Given the description of an element on the screen output the (x, y) to click on. 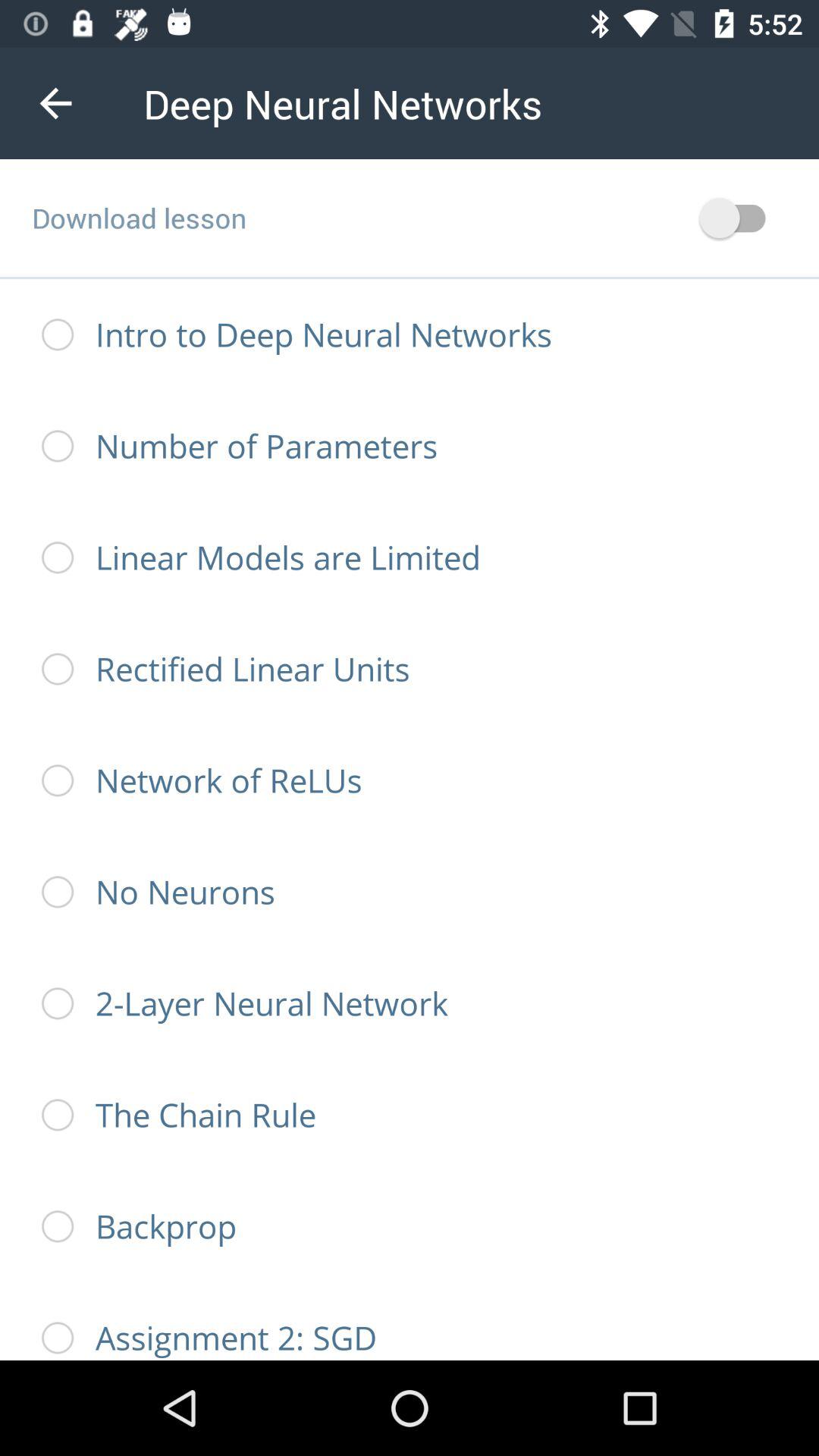
toggle option (739, 218)
